Given the description of an element on the screen output the (x, y) to click on. 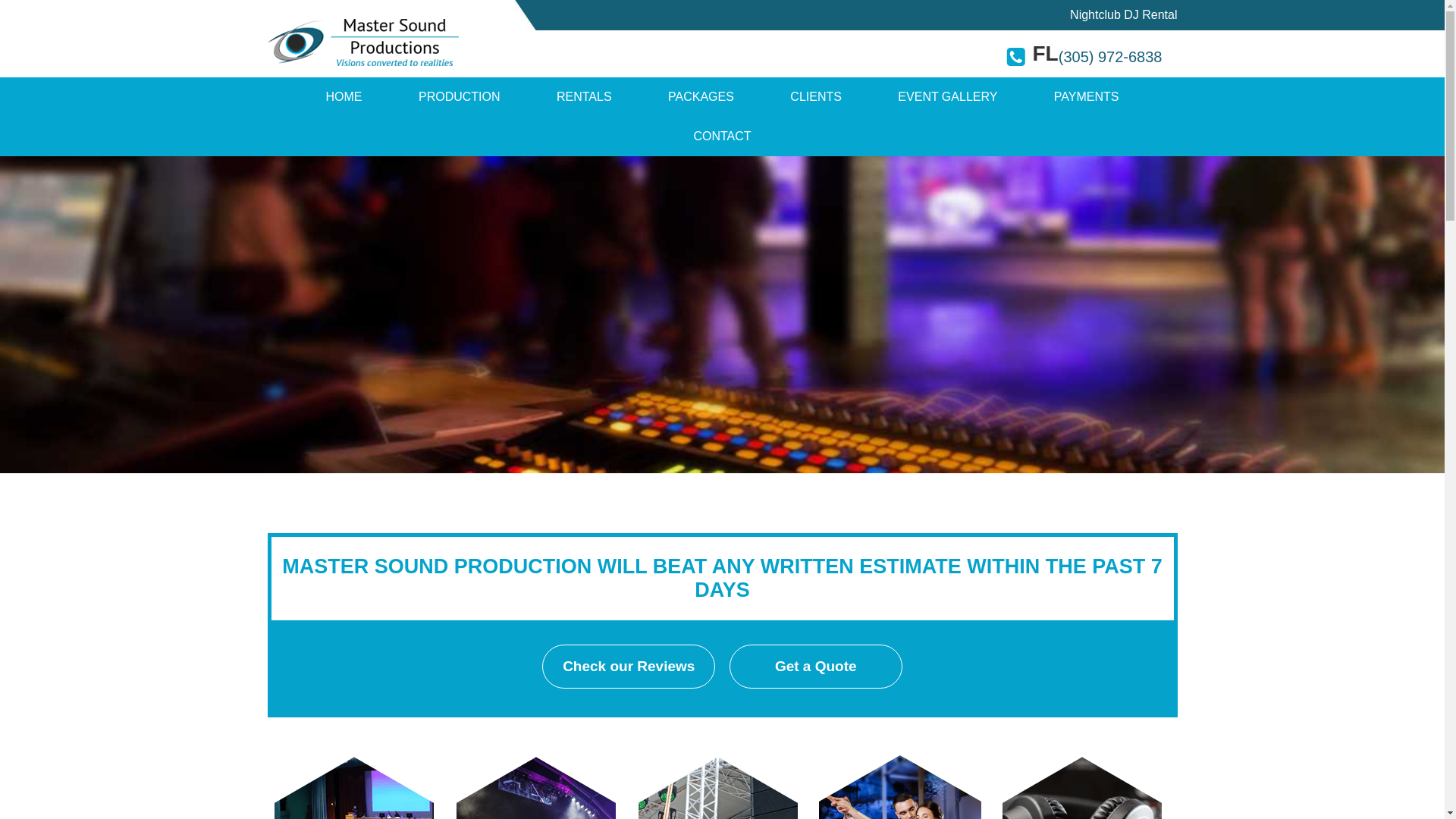
RENTALS (584, 96)
PACKAGES (701, 96)
Check our Reviews (627, 666)
PAYMENTS (1086, 96)
EVENT GALLERY (946, 96)
CLIENTS (814, 96)
Get a Quote (815, 666)
Master Sound Productions (343, 96)
PRODUCTION (459, 96)
HOME (343, 96)
